Given the description of an element on the screen output the (x, y) to click on. 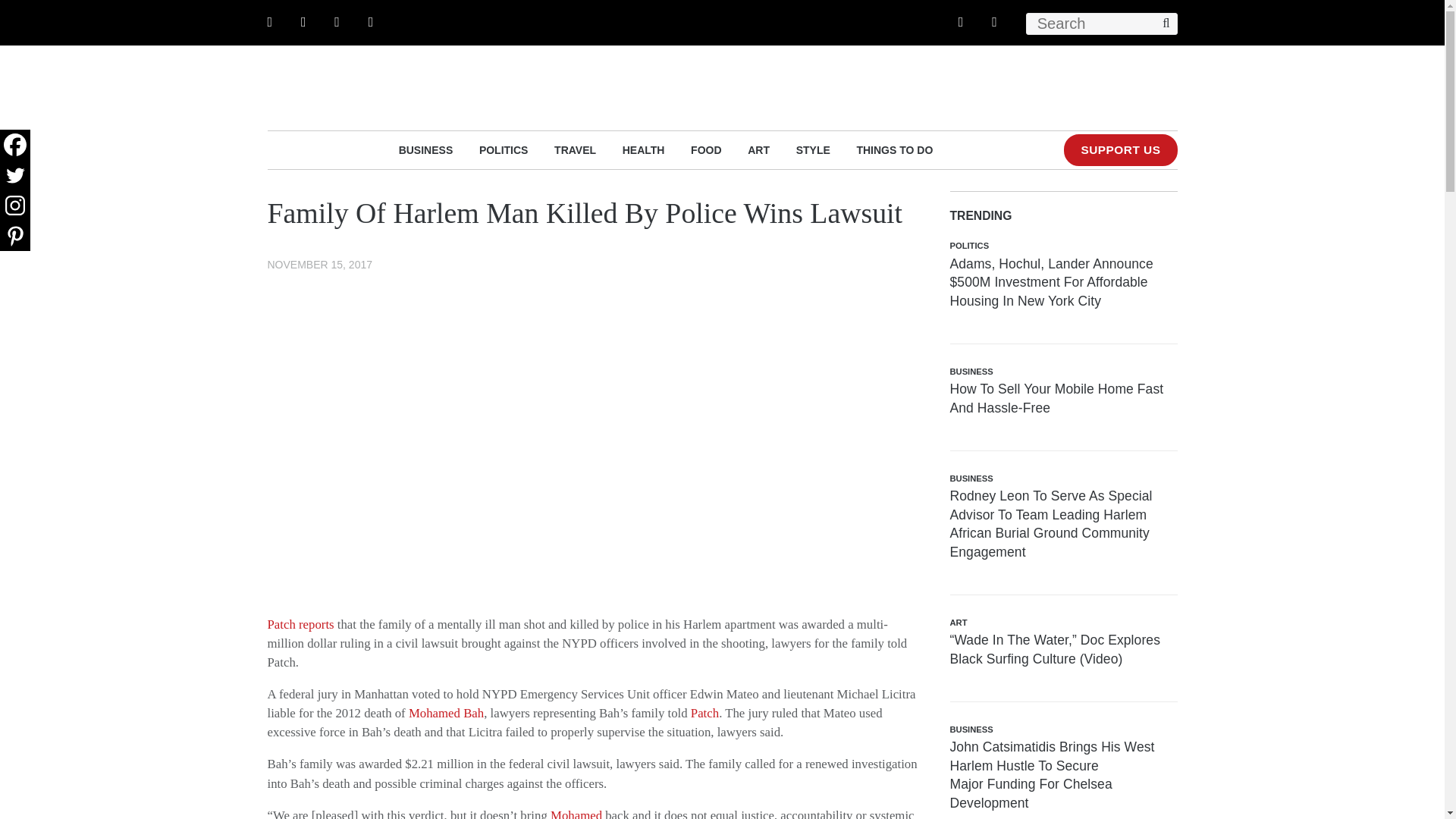
Instagram (15, 205)
Patch (704, 712)
Pinterest (15, 235)
HEALTH (644, 149)
STYLE (812, 149)
TRAVEL (574, 149)
BUSINESS (425, 149)
Twitter (15, 174)
Mohamed (576, 813)
POLITICS (503, 149)
